Given the description of an element on the screen output the (x, y) to click on. 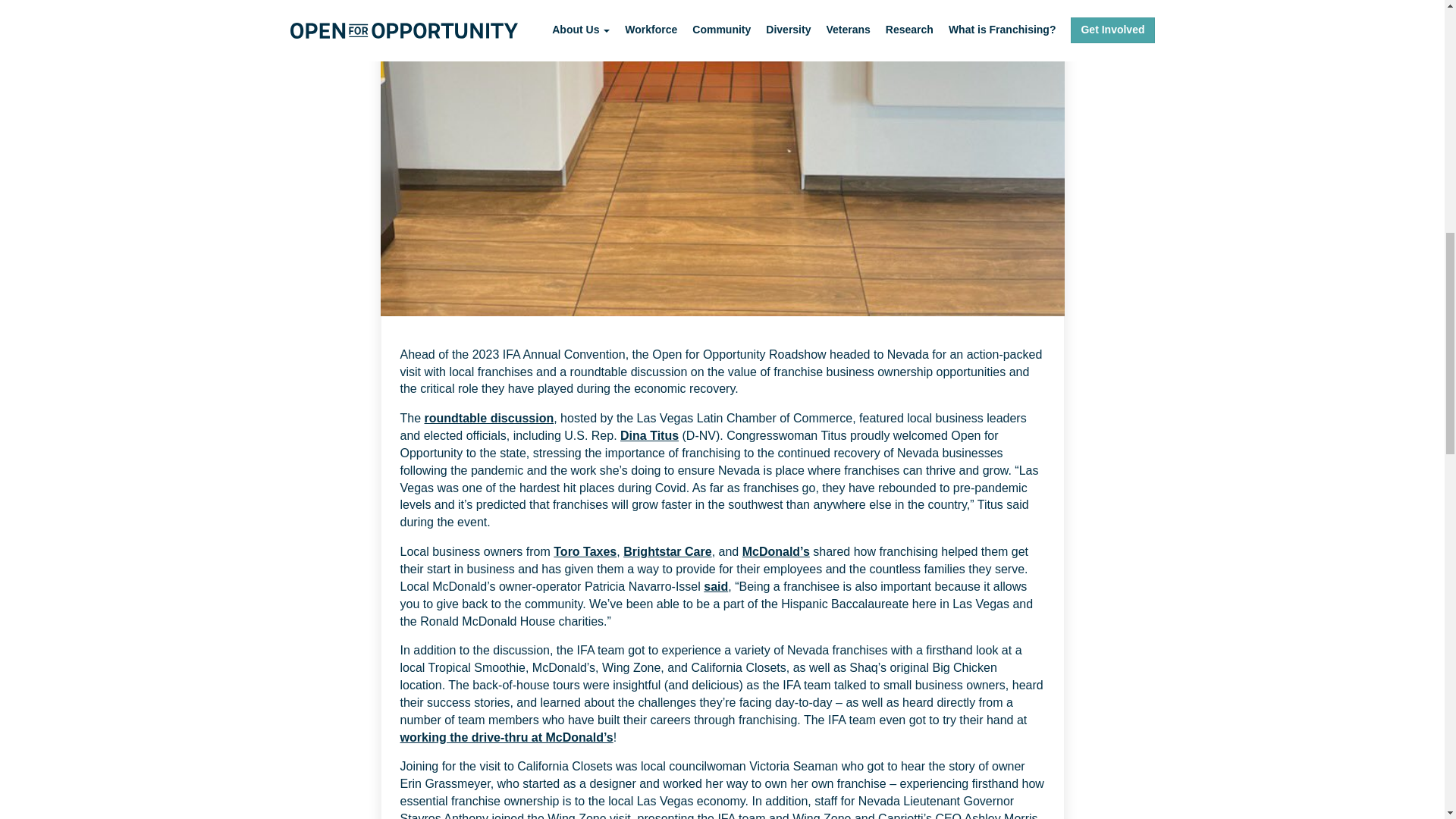
Brightstar Care (667, 551)
Toro Taxes (584, 551)
Dina Titus (649, 435)
roundtable discussion (489, 418)
said (715, 585)
